Given the description of an element on the screen output the (x, y) to click on. 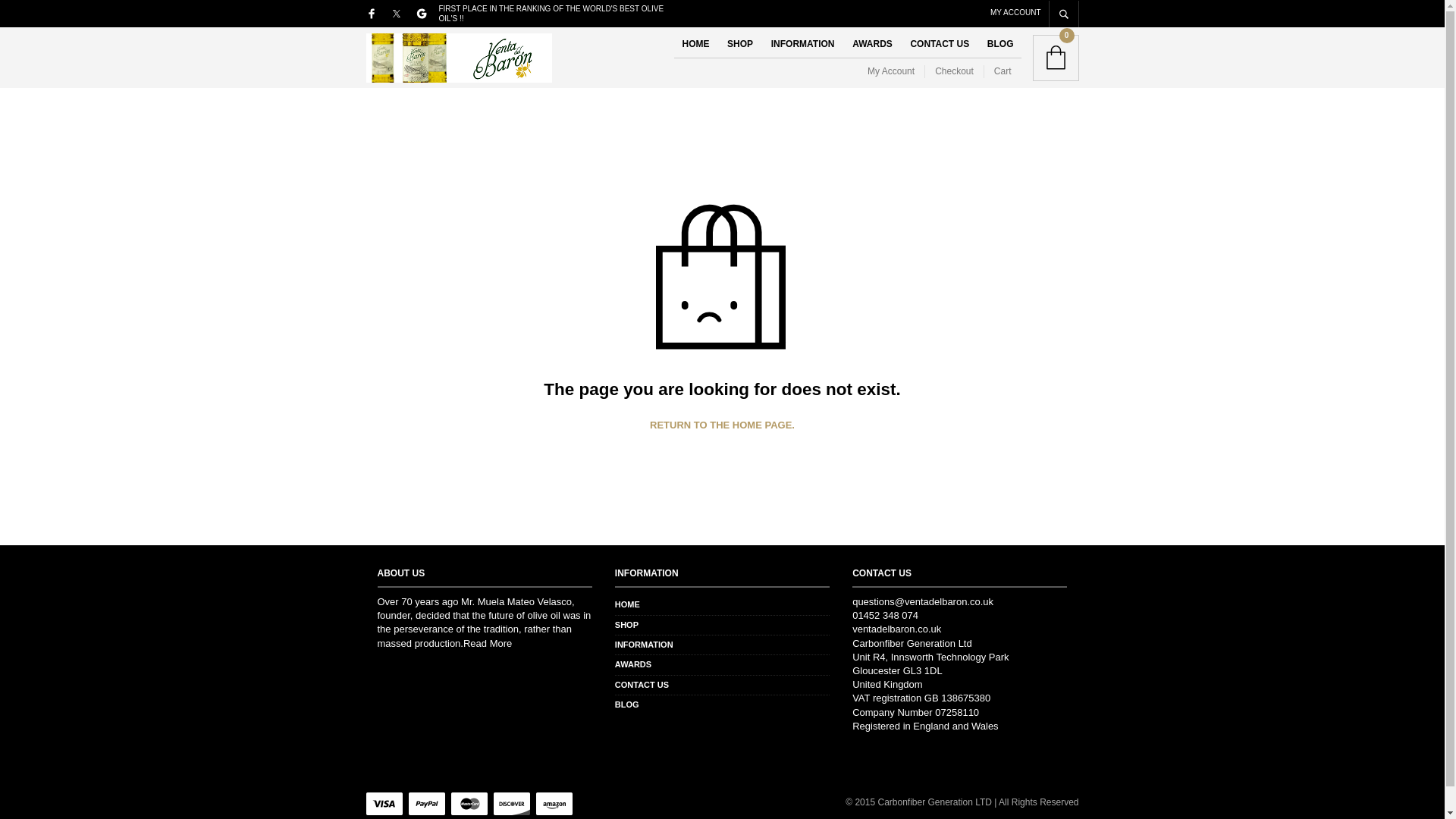
MY ACCOUNT (1015, 11)
INFORMATION (643, 644)
AWARDS (871, 44)
My Account (895, 71)
CONTACT US (939, 44)
SHOP (739, 44)
AWARDS (632, 664)
INFORMATION (802, 44)
HOME (627, 604)
BLOG (626, 704)
CONTACT US (641, 684)
BLOG (1000, 44)
HOME (695, 44)
Read More (487, 643)
Checkout (954, 71)
